Given the description of an element on the screen output the (x, y) to click on. 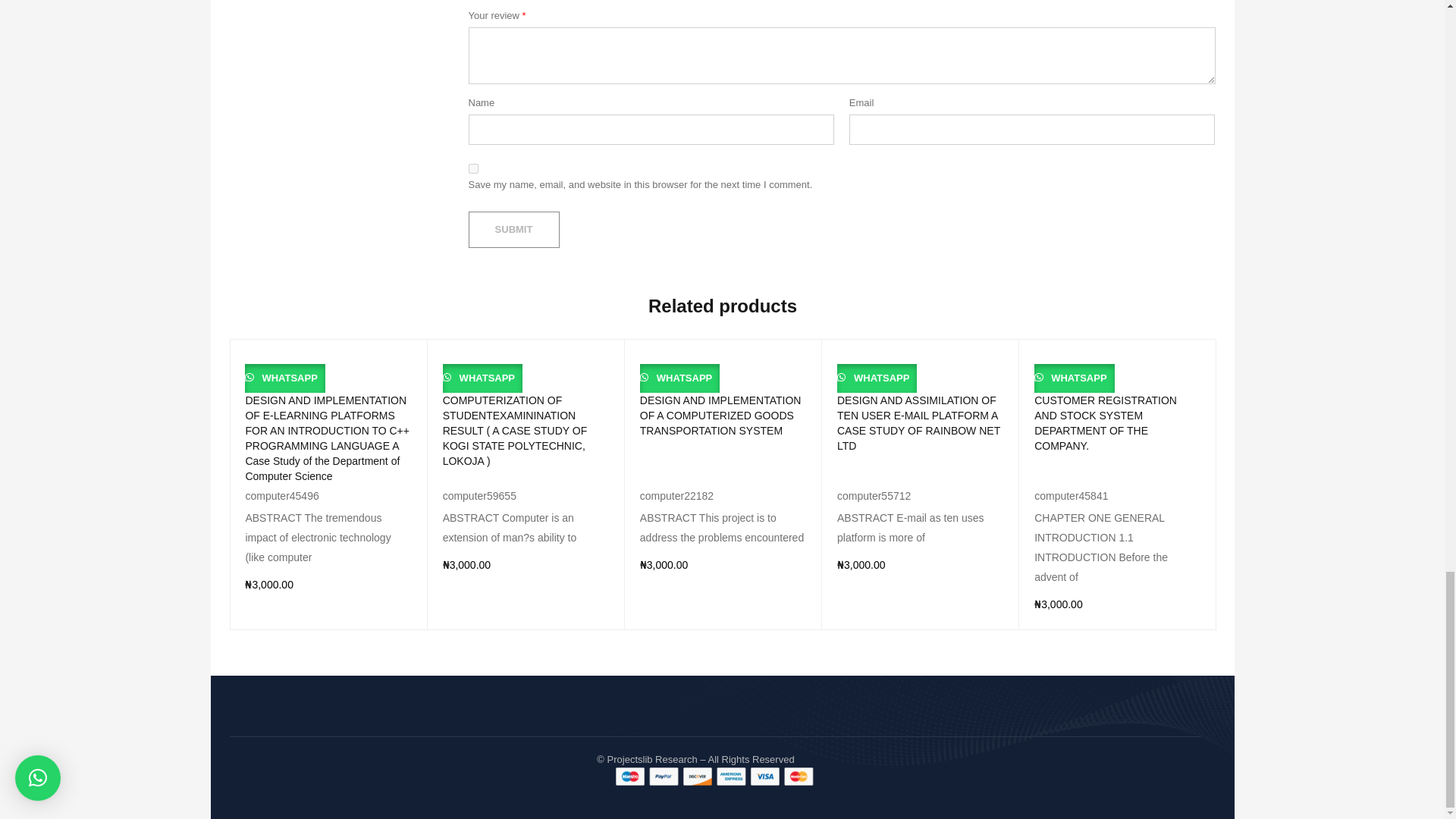
yes (473, 168)
Submit (513, 229)
